Given the description of an element on the screen output the (x, y) to click on. 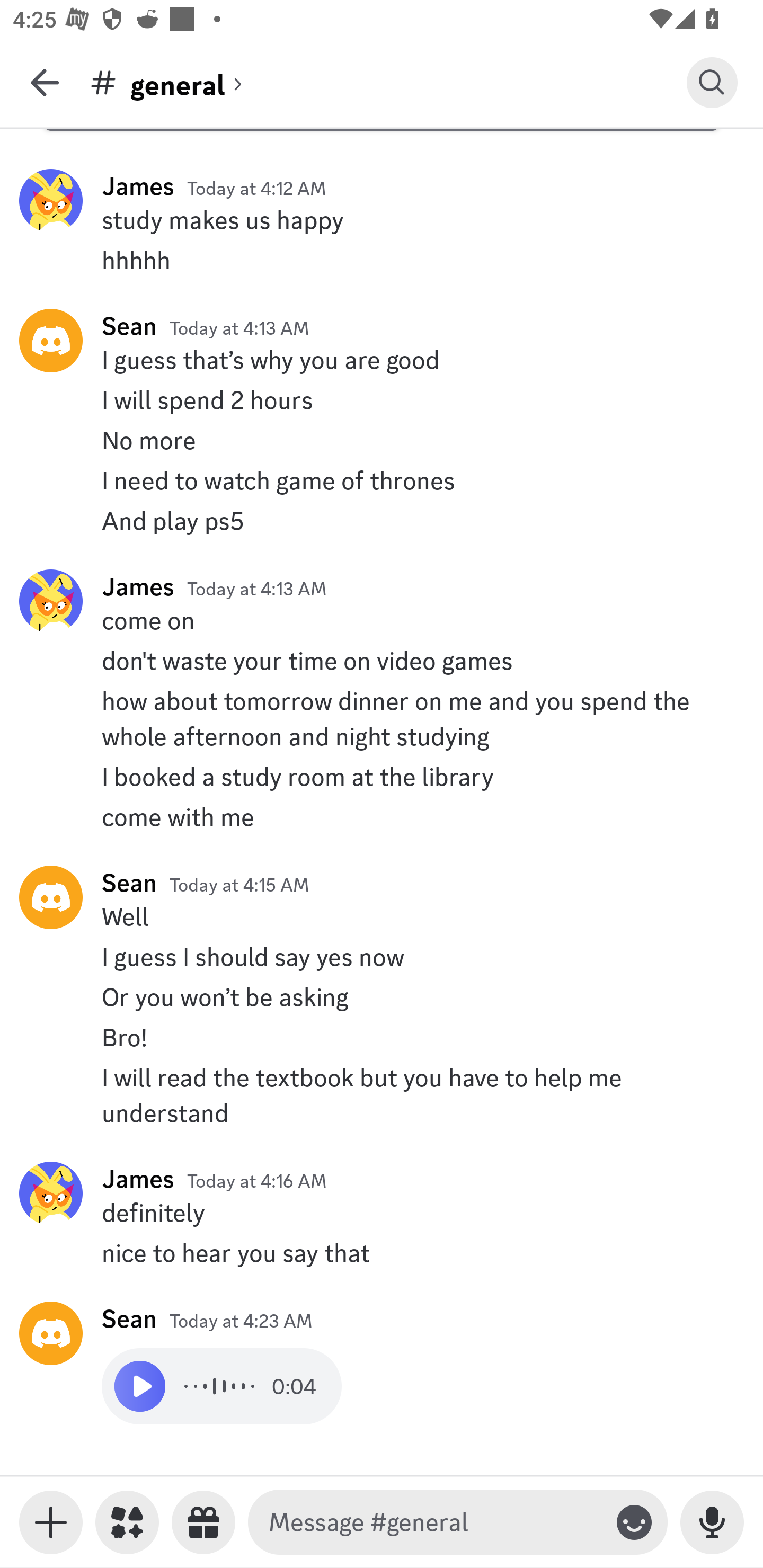
general (channel) general general (channel) (387, 82)
Back (44, 82)
Search (711, 82)
James (137, 185)
ssseannn007., hhhhh hhhhh (381, 259)
Sean (129, 325)
yuxiang.007, No more No more (381, 440)
yuxiang.007, And play ps5 And play ps5 (381, 520)
James (137, 586)
ssseannn007., come with me come with me (381, 816)
Sean (129, 882)
yuxiang.007, Bro! Bro! (381, 1036)
James (137, 1177)
Sean (129, 1318)
Voice Message; Duration: 4   0:04   (221, 1385)
Toggle media keyboard (50, 1522)
Apps (126, 1522)
Send a gift (203, 1522)
Record Voice Message (711, 1522)
Message #general (433, 1522)
Toggle emoji keyboard (634, 1522)
